Given the description of an element on the screen output the (x, y) to click on. 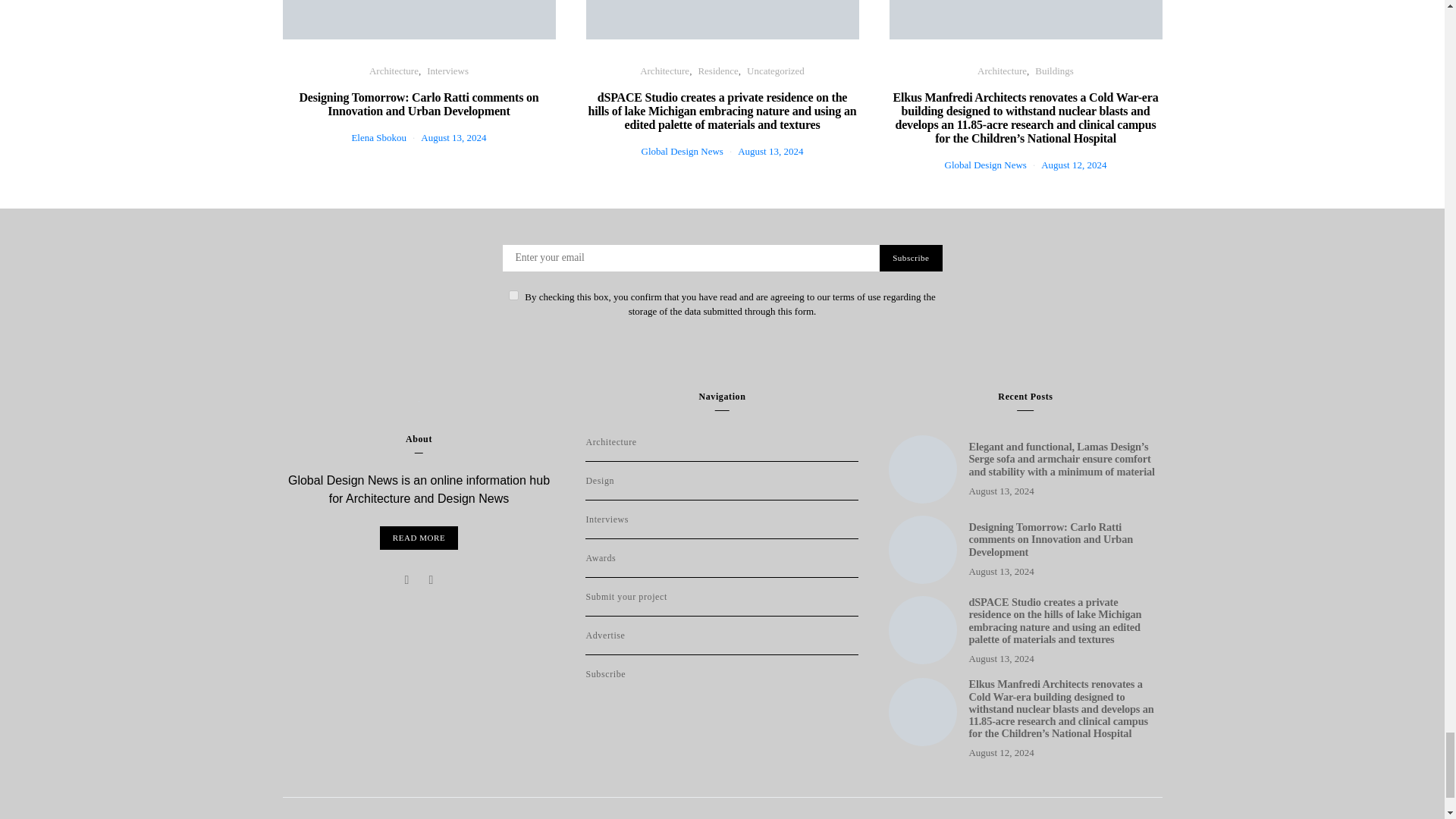
on (513, 295)
View all posts by Elena Sbokou (378, 137)
View all posts by Global Design News (985, 164)
View all posts by Global Design News (682, 151)
